Given the description of an element on the screen output the (x, y) to click on. 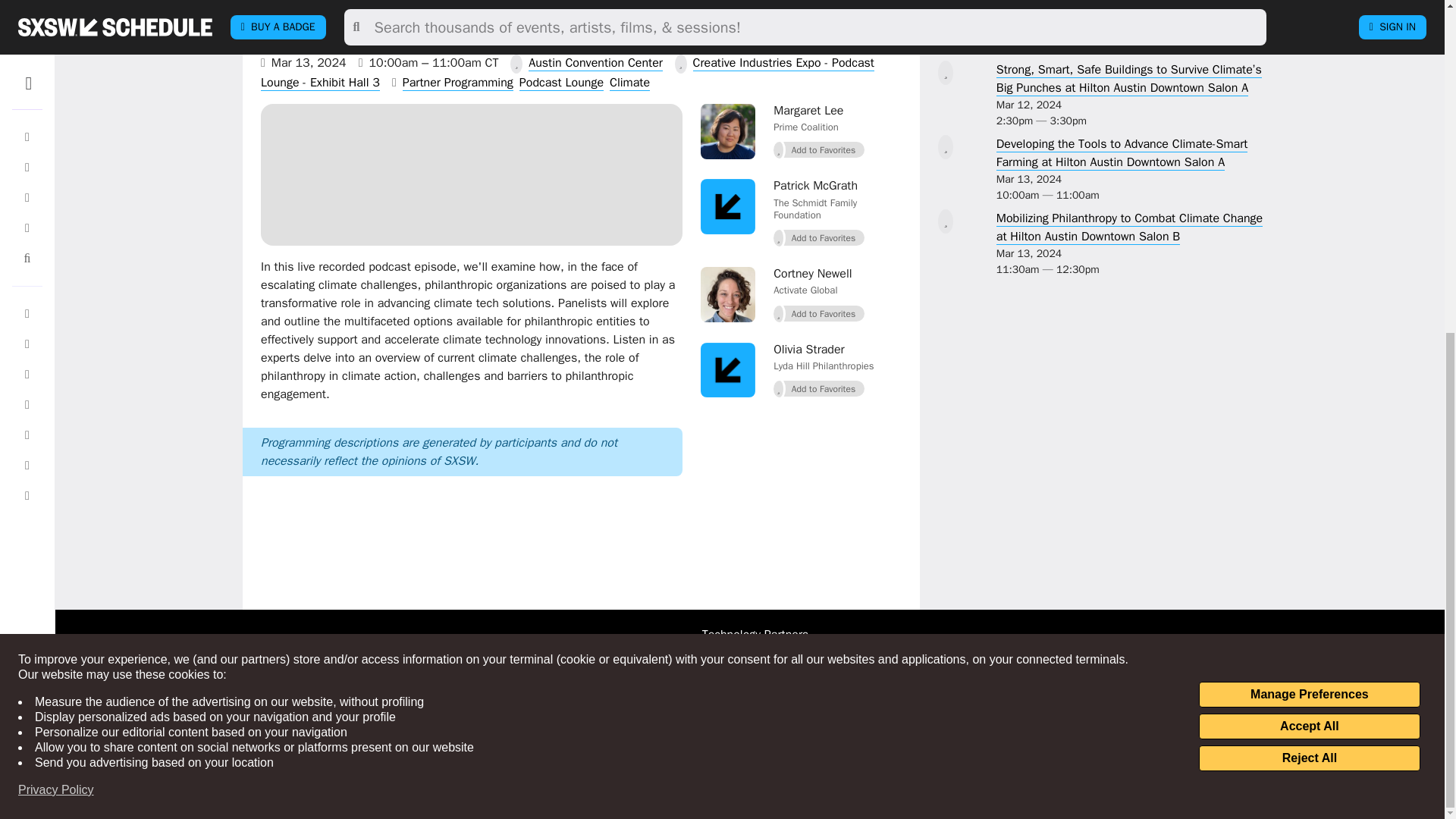
Sign In to add to your favorites. (818, 149)
Sign In to add to your favorites. (818, 237)
Manage Preferences (1309, 140)
Sign In to add to your favorites. (945, 5)
Reject All (1309, 203)
Accept All (1309, 171)
Sign In to add to your favorites. (818, 313)
Austin Convention Center (595, 63)
Sign In to add to your favorites. (818, 388)
Privacy Policy (55, 235)
